Given the description of an element on the screen output the (x, y) to click on. 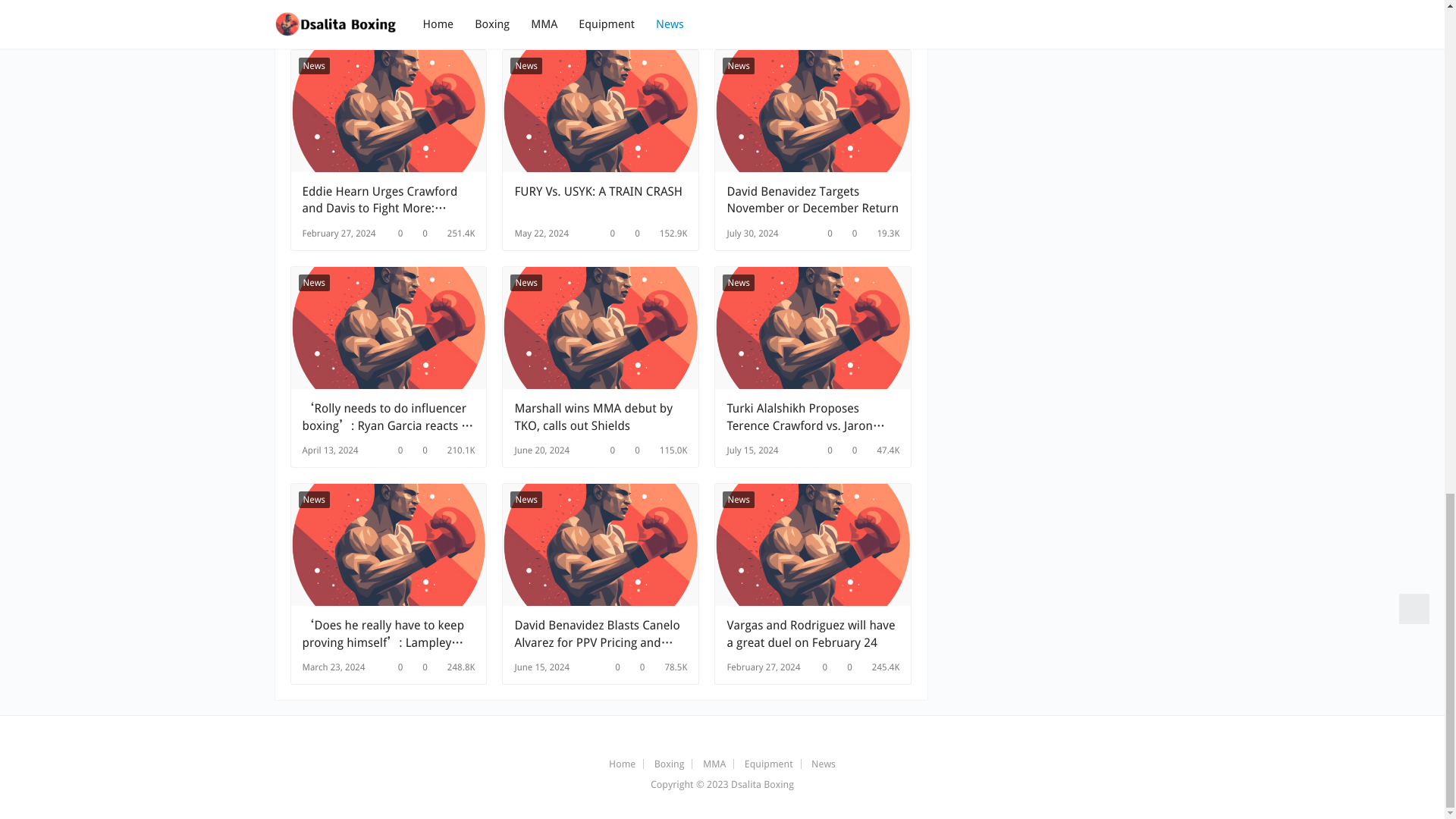
David Benavidez Targets November or December Return (812, 200)
FURY Vs. USYK: A TRAIN CRASH (600, 110)
David Benavidez Targets November or December Return (812, 110)
News (314, 65)
FURY Vs. USYK: A TRAIN CRASH (600, 200)
